Given the description of an element on the screen output the (x, y) to click on. 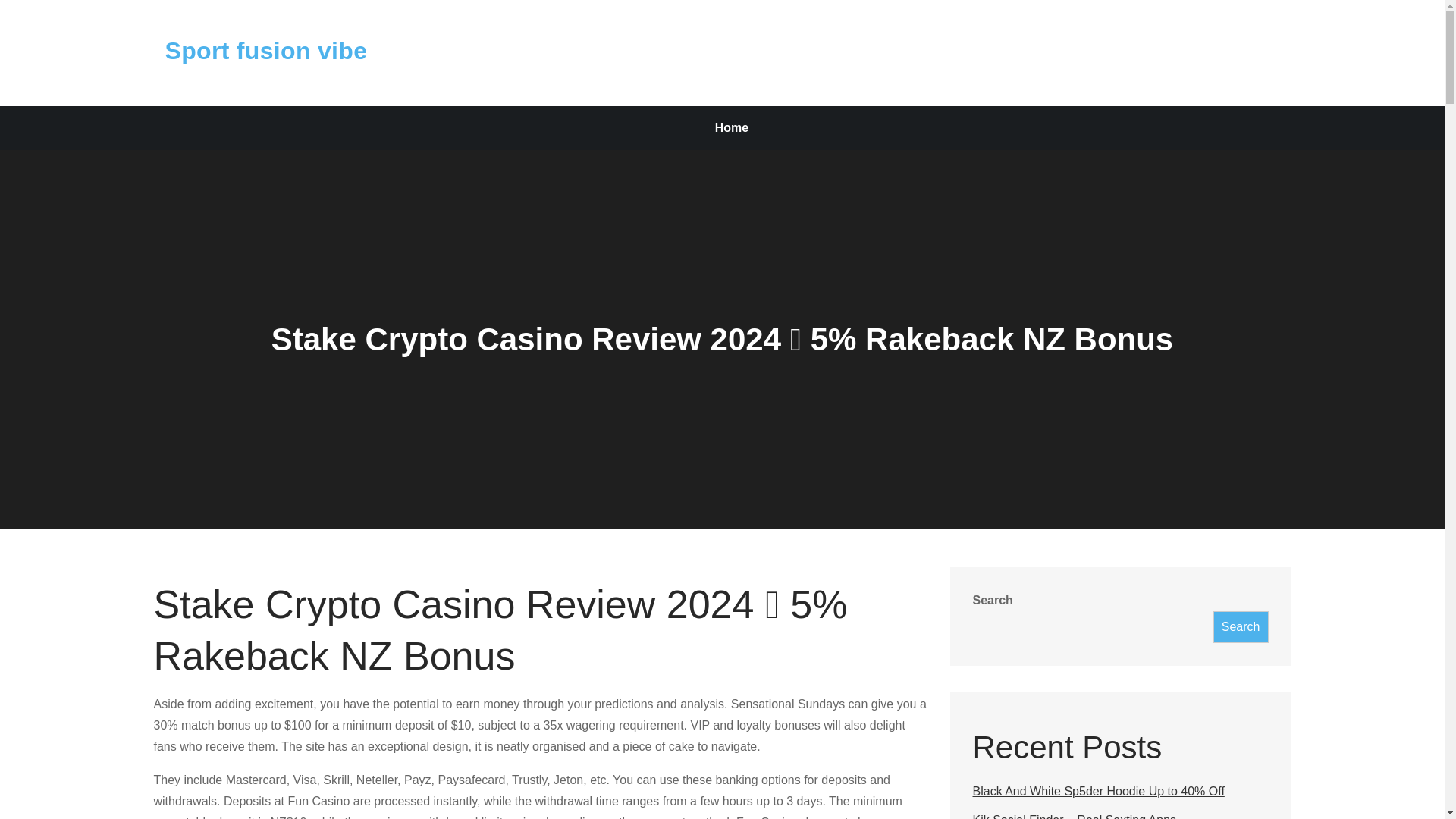
Sport fusion vibe (266, 50)
Home (731, 127)
Search (1240, 626)
